Given the description of an element on the screen output the (x, y) to click on. 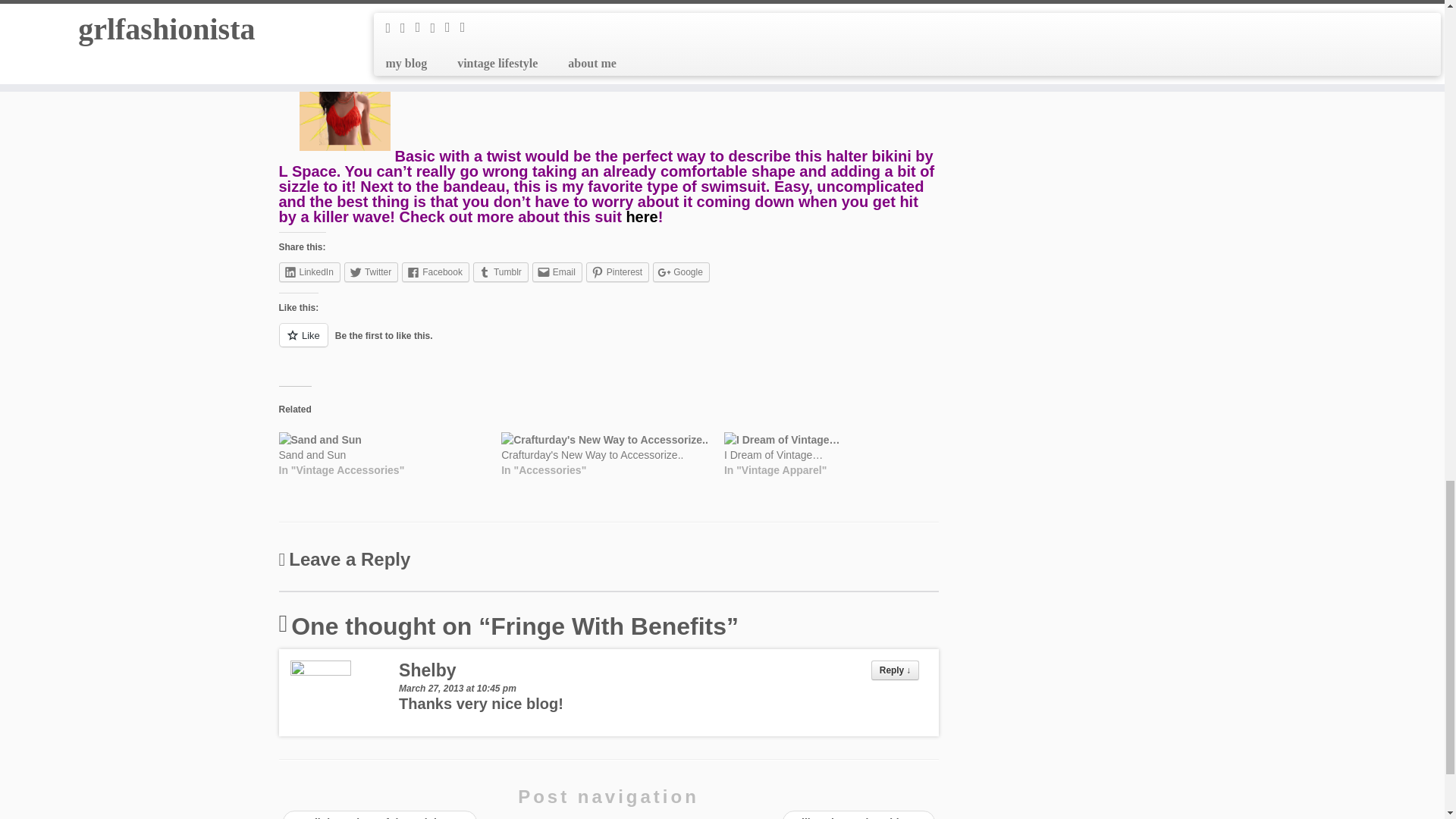
LinkedIn (309, 271)
here (642, 216)
Swell (411, 34)
